Given the description of an element on the screen output the (x, y) to click on. 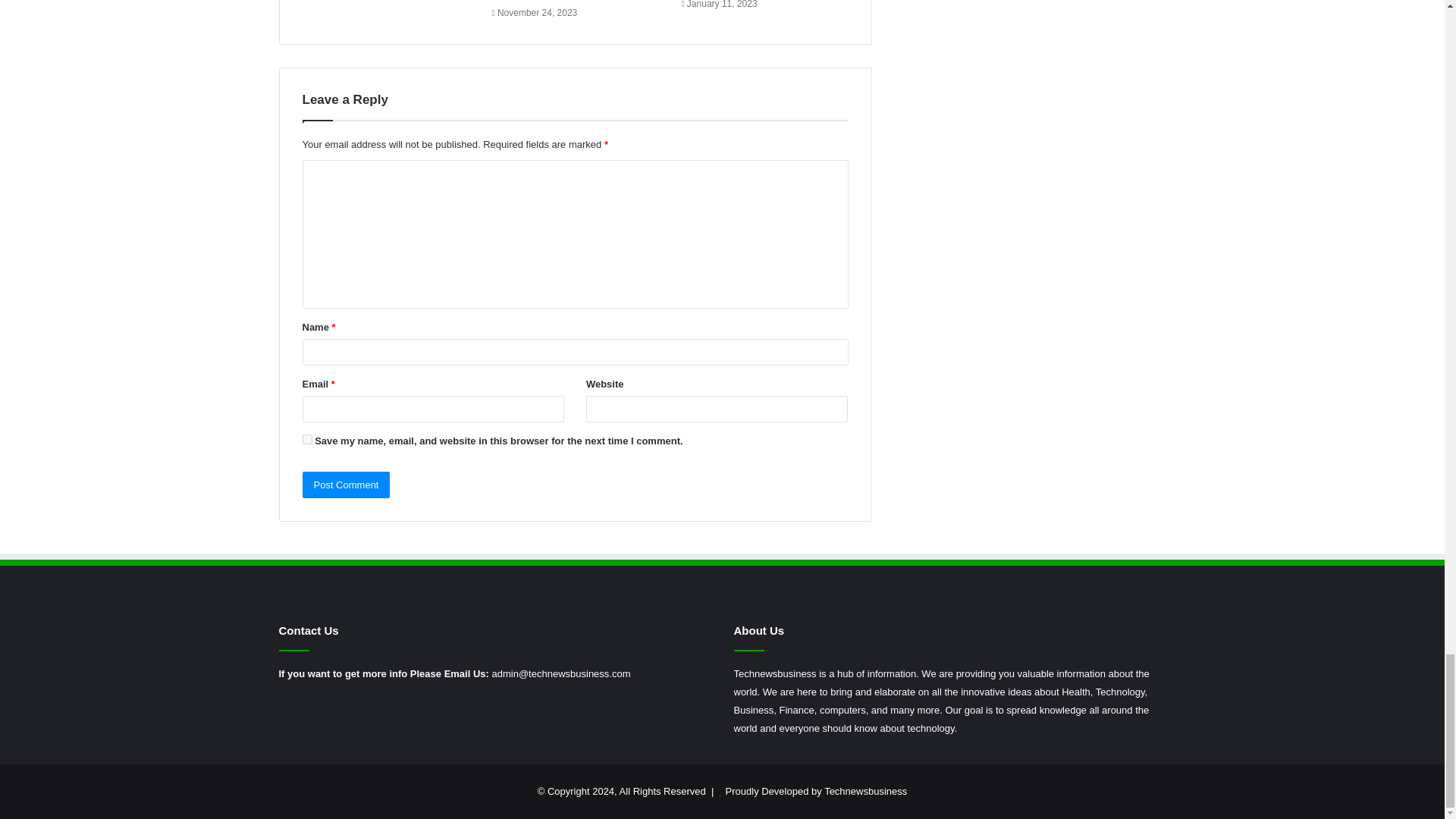
Post Comment (345, 484)
yes (306, 439)
